Given the description of an element on the screen output the (x, y) to click on. 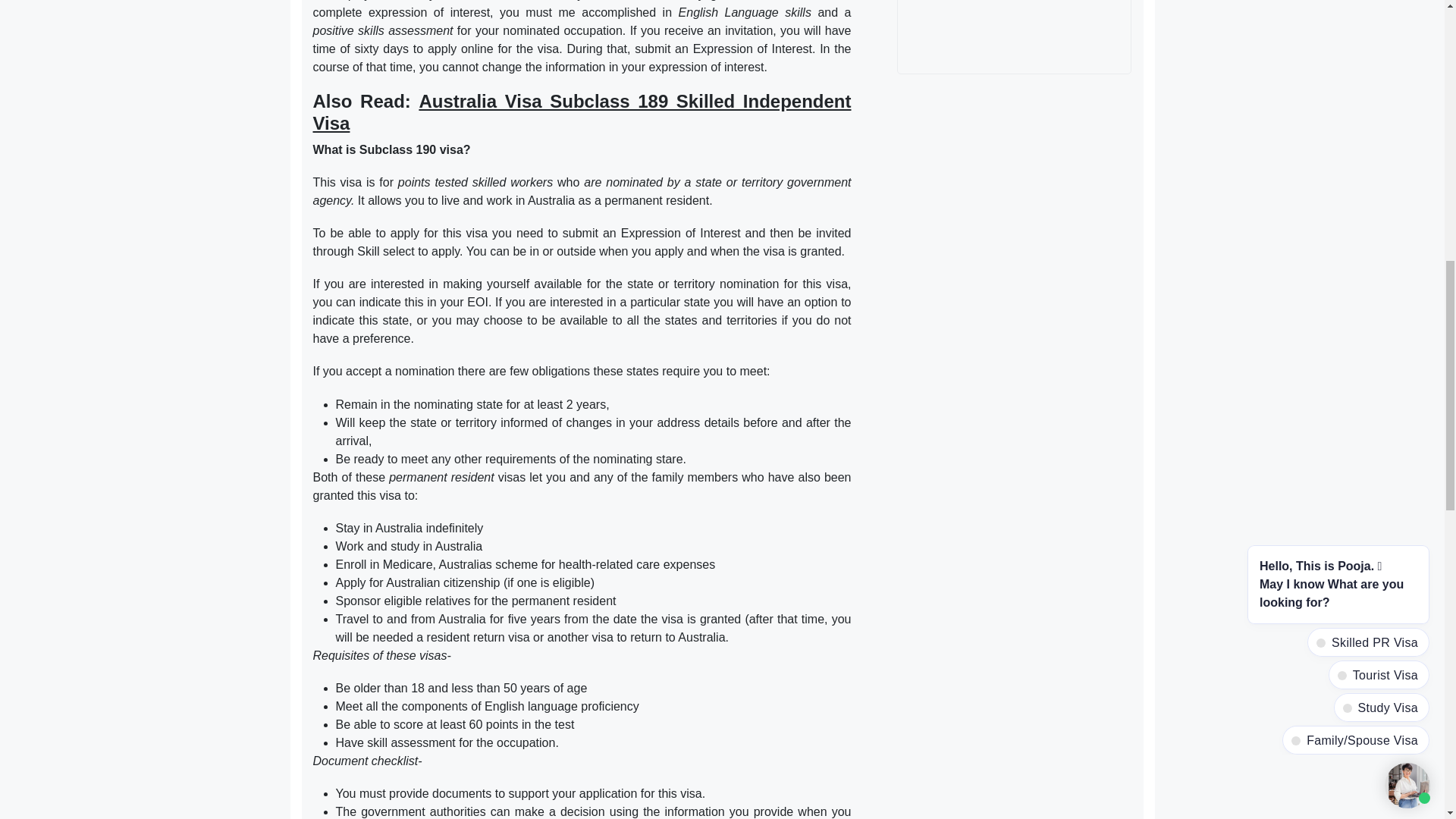
YouTube video player (1015, 33)
Australia Visa Subclass 189 Skilled Independent Visa (581, 111)
